Given the description of an element on the screen output the (x, y) to click on. 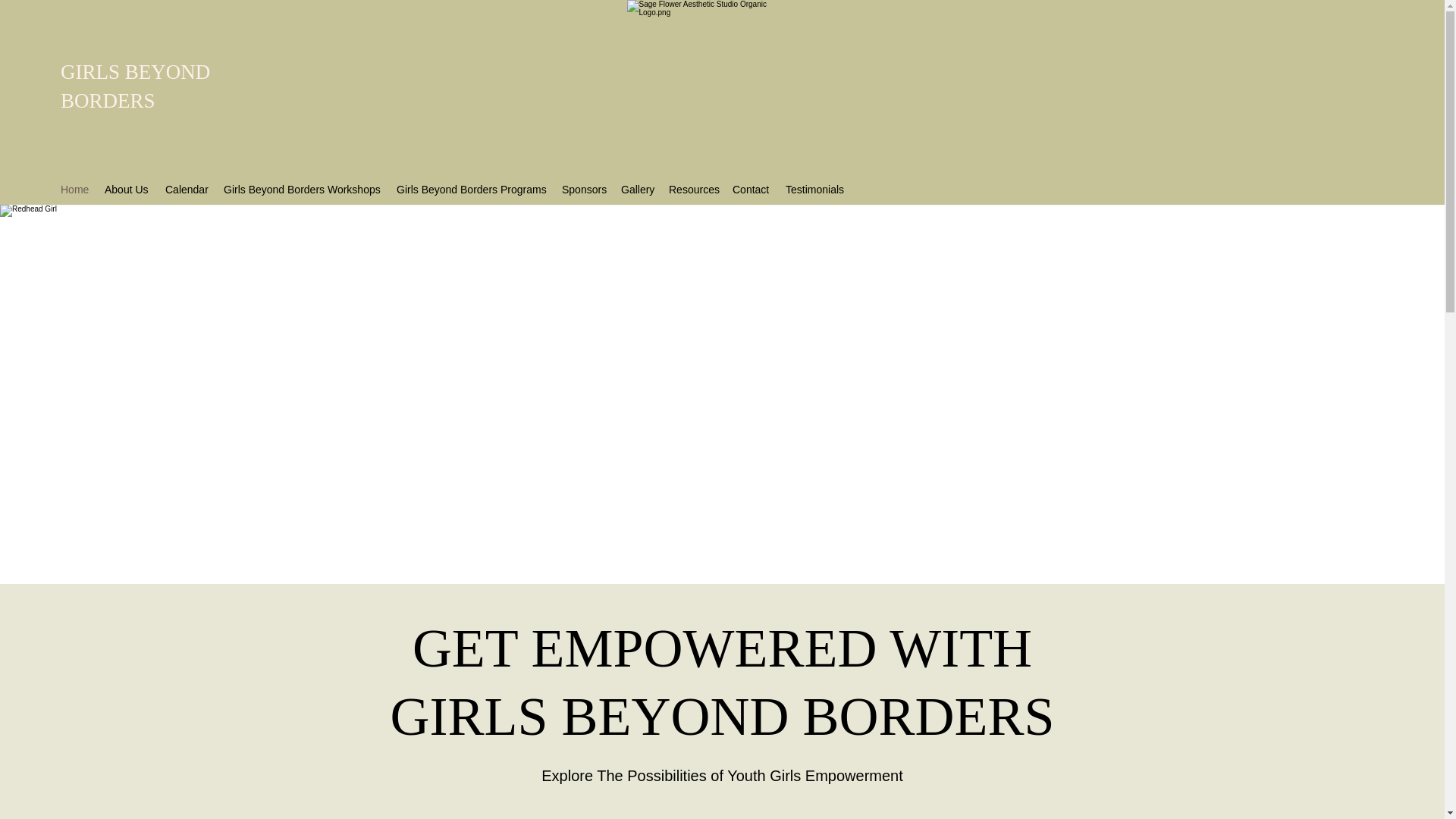
Home (74, 189)
Calendar (186, 189)
About Us (127, 189)
Testimonials (813, 189)
Contact (751, 189)
Girls Beyond Borders Programs (471, 189)
Girls Beyond Borders Workshops (301, 189)
Gallery (636, 189)
Sponsors (583, 189)
Resources (693, 189)
